Given the description of an element on the screen output the (x, y) to click on. 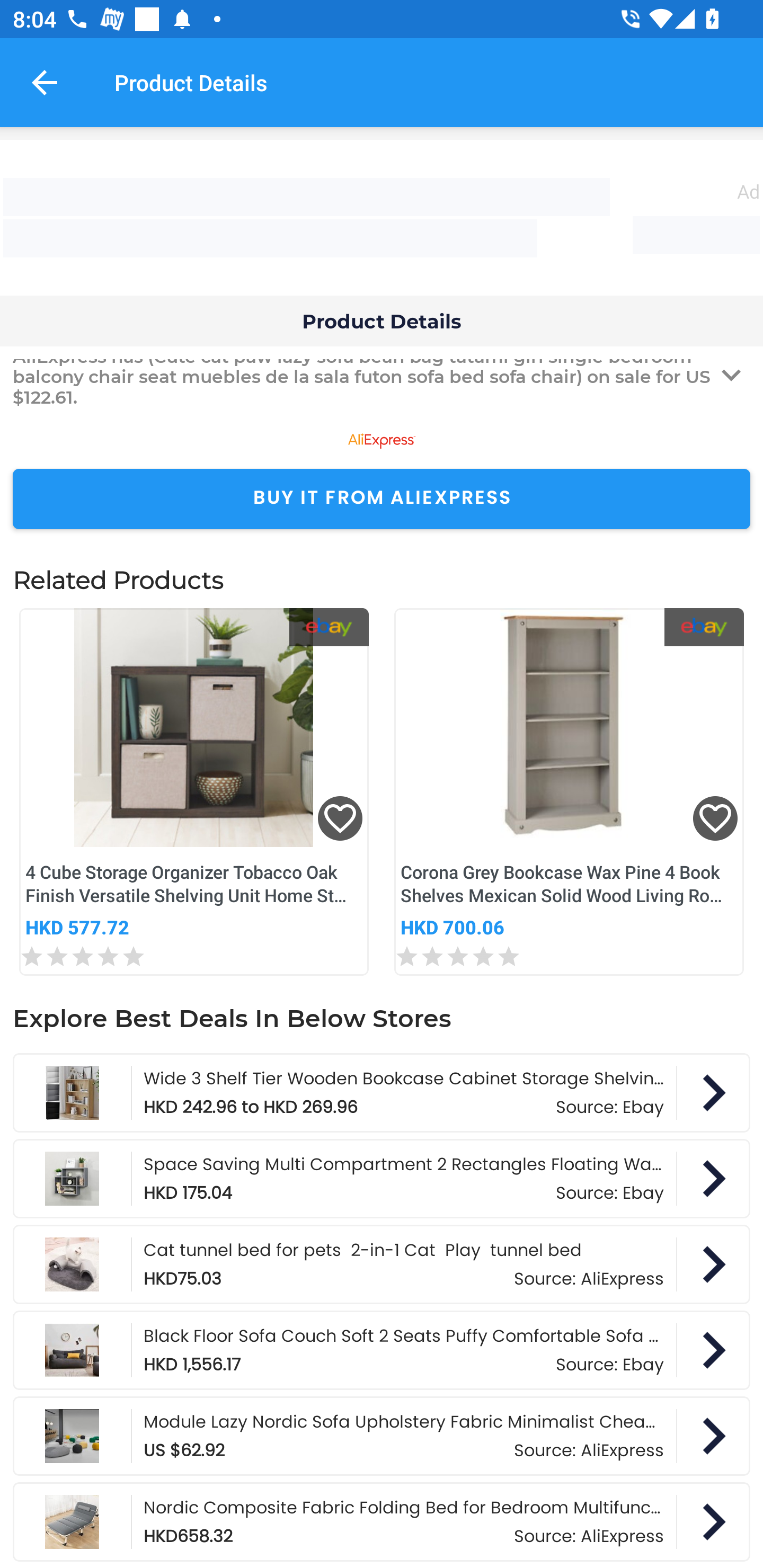
Navigate up (44, 82)
BUY IT FROM ALIEXPRESS (381, 499)
